Given the description of an element on the screen output the (x, y) to click on. 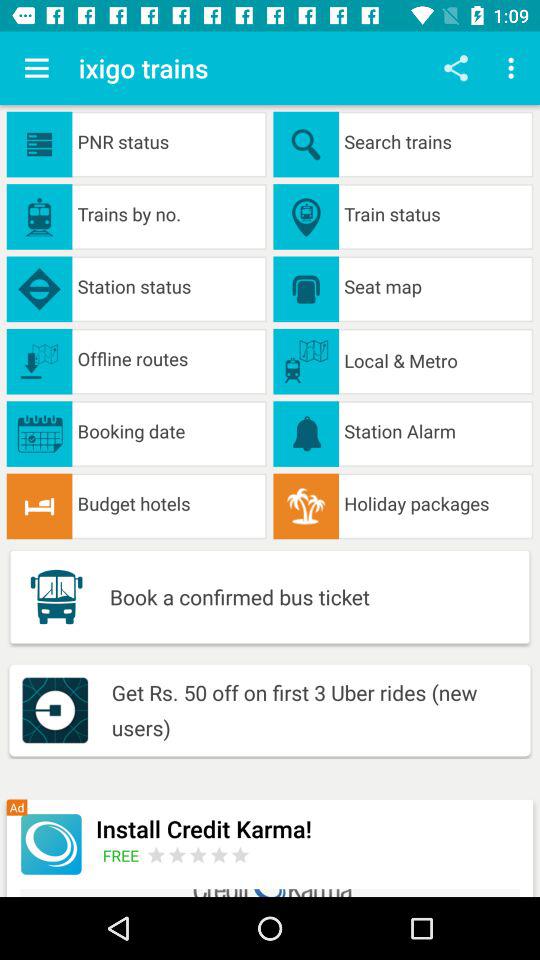
turn off app to the right of the ixigo trains item (455, 67)
